Given the description of an element on the screen output the (x, y) to click on. 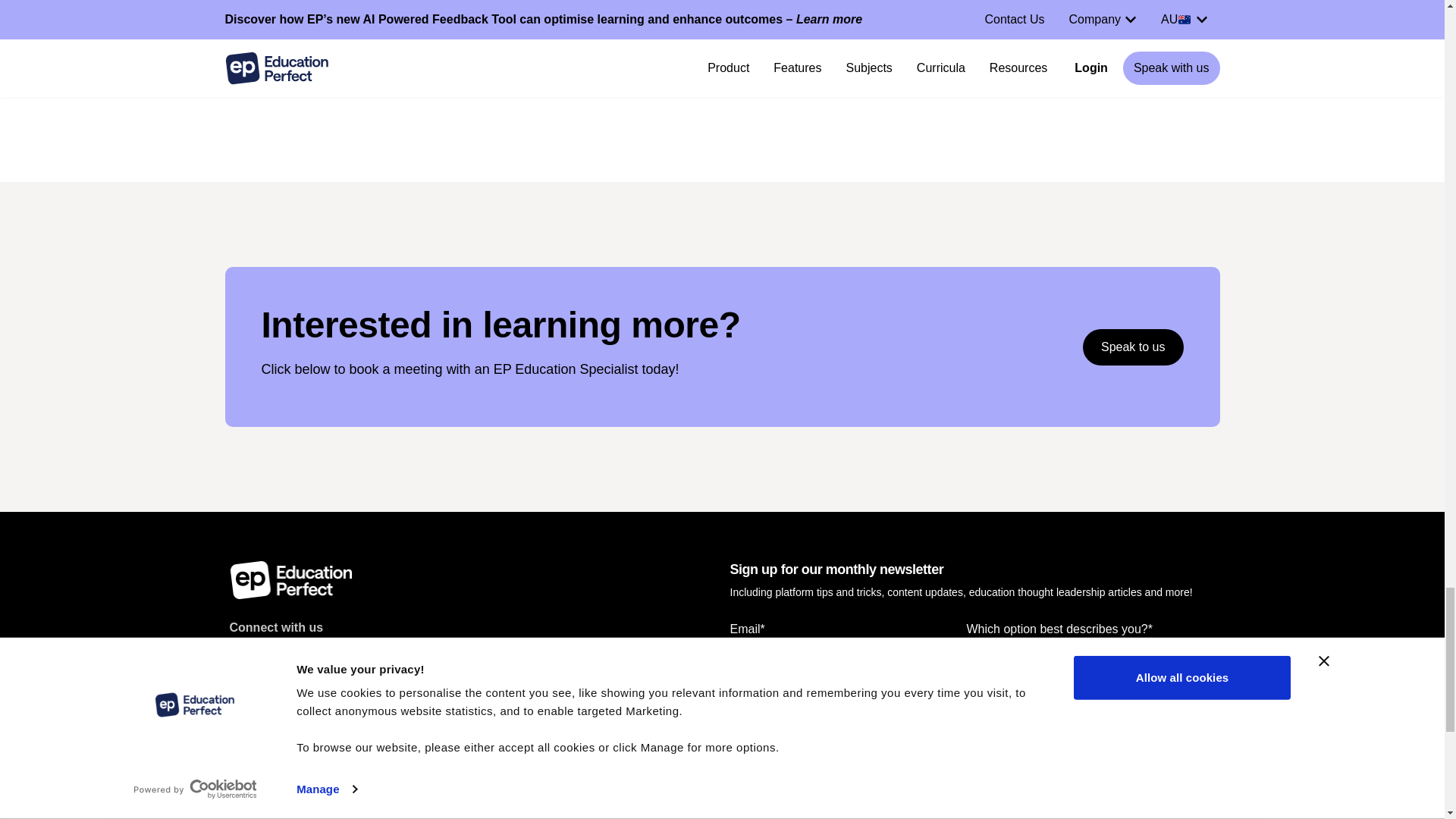
Subscribe Today (794, 796)
